Given the description of an element on the screen output the (x, y) to click on. 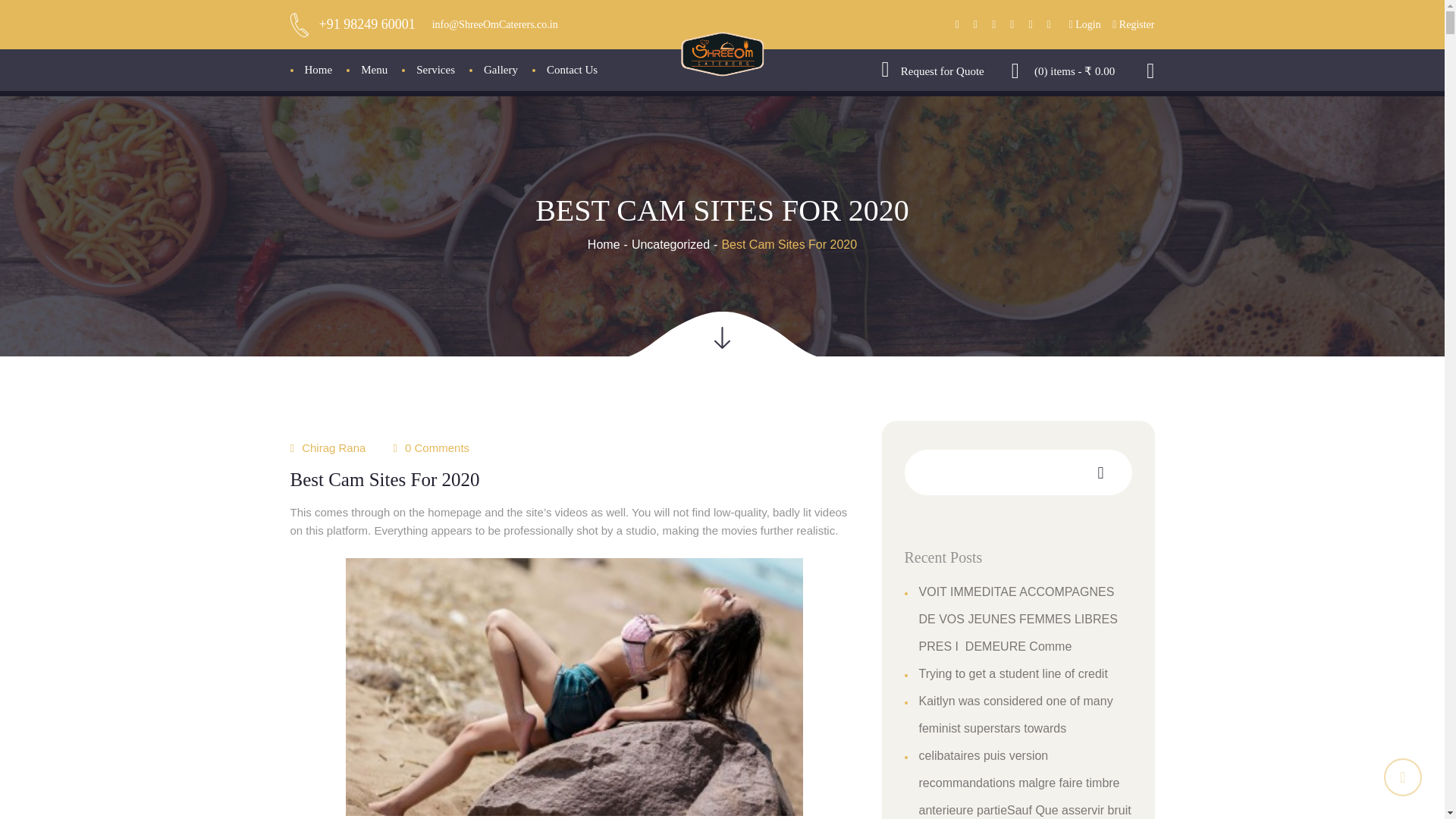
Posts by Chirag Rana (333, 447)
Login (1085, 24)
Home (604, 244)
Uncategorized (670, 244)
Home (317, 69)
Search (1125, 131)
Contact Us (571, 69)
Menu (373, 69)
Register (1133, 24)
Request for Quote (933, 70)
